Given the description of an element on the screen output the (x, y) to click on. 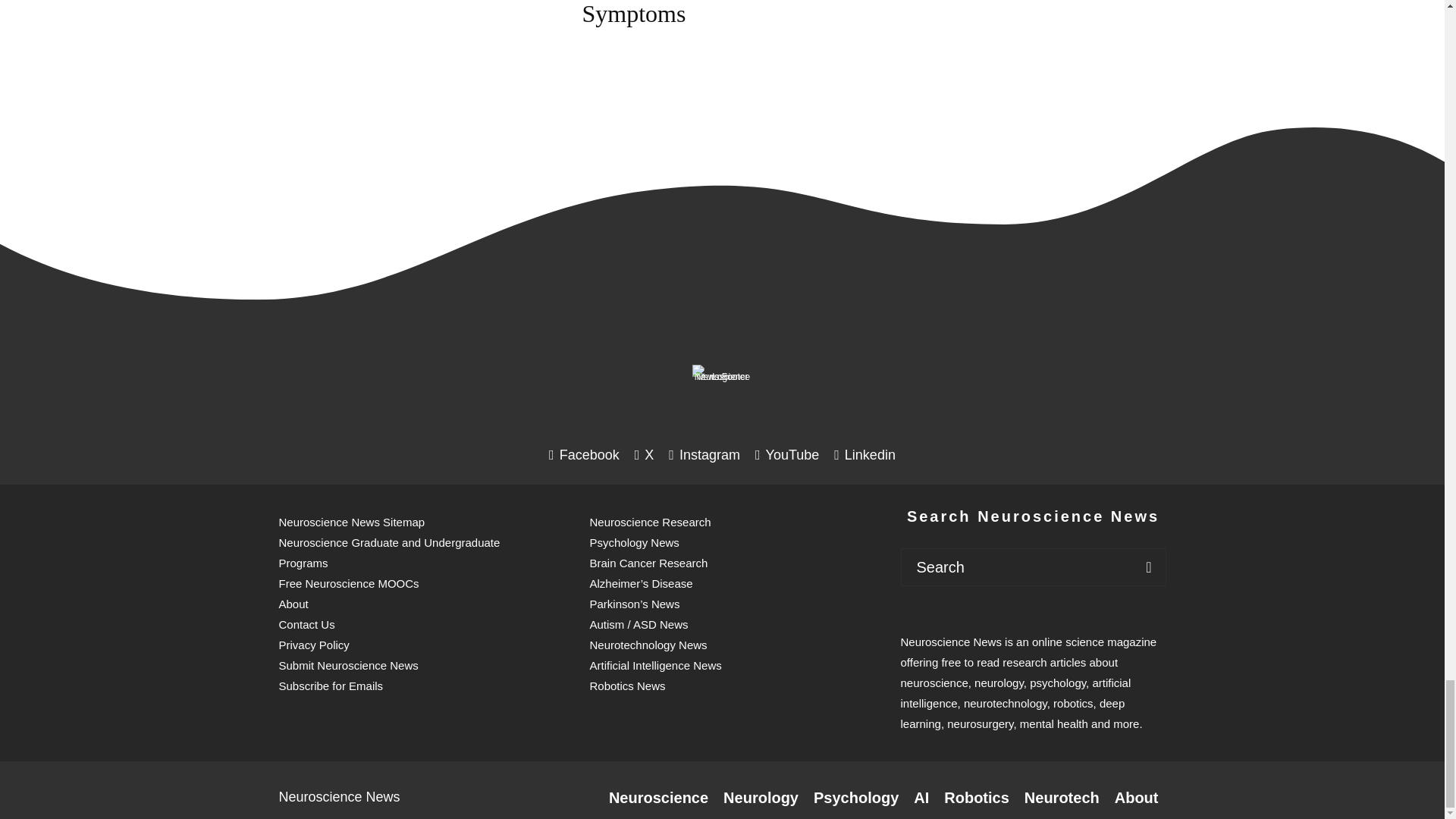
Psychology Research Articles (855, 797)
Neuroscience Research (657, 797)
Neurology Research Articles (760, 797)
